Given the description of an element on the screen output the (x, y) to click on. 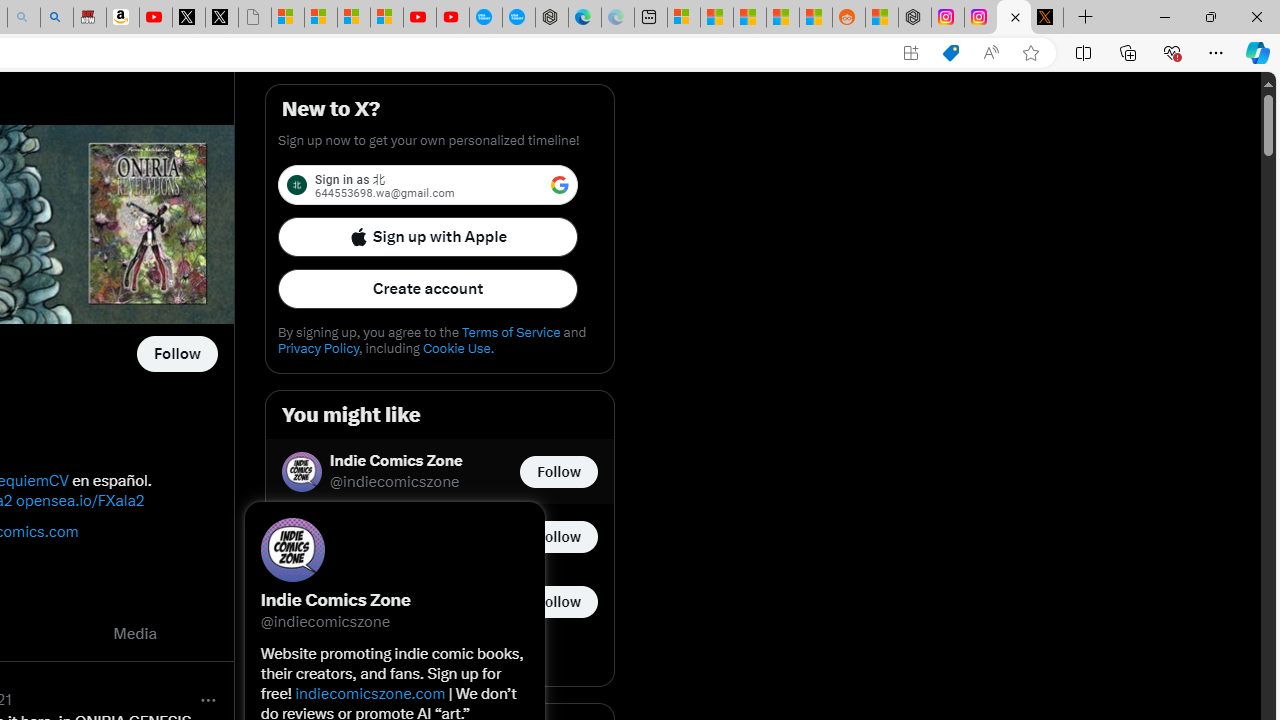
Terms of Service (510, 331)
@deanetts (367, 547)
Cookie Use. (458, 348)
Class: LgbsSe-Bz112c (559, 184)
Untitled (255, 17)
opensea.io/FXala2 (79, 500)
Gloom - YouTube (420, 17)
Privacy Policy (317, 348)
